Given the description of an element on the screen output the (x, y) to click on. 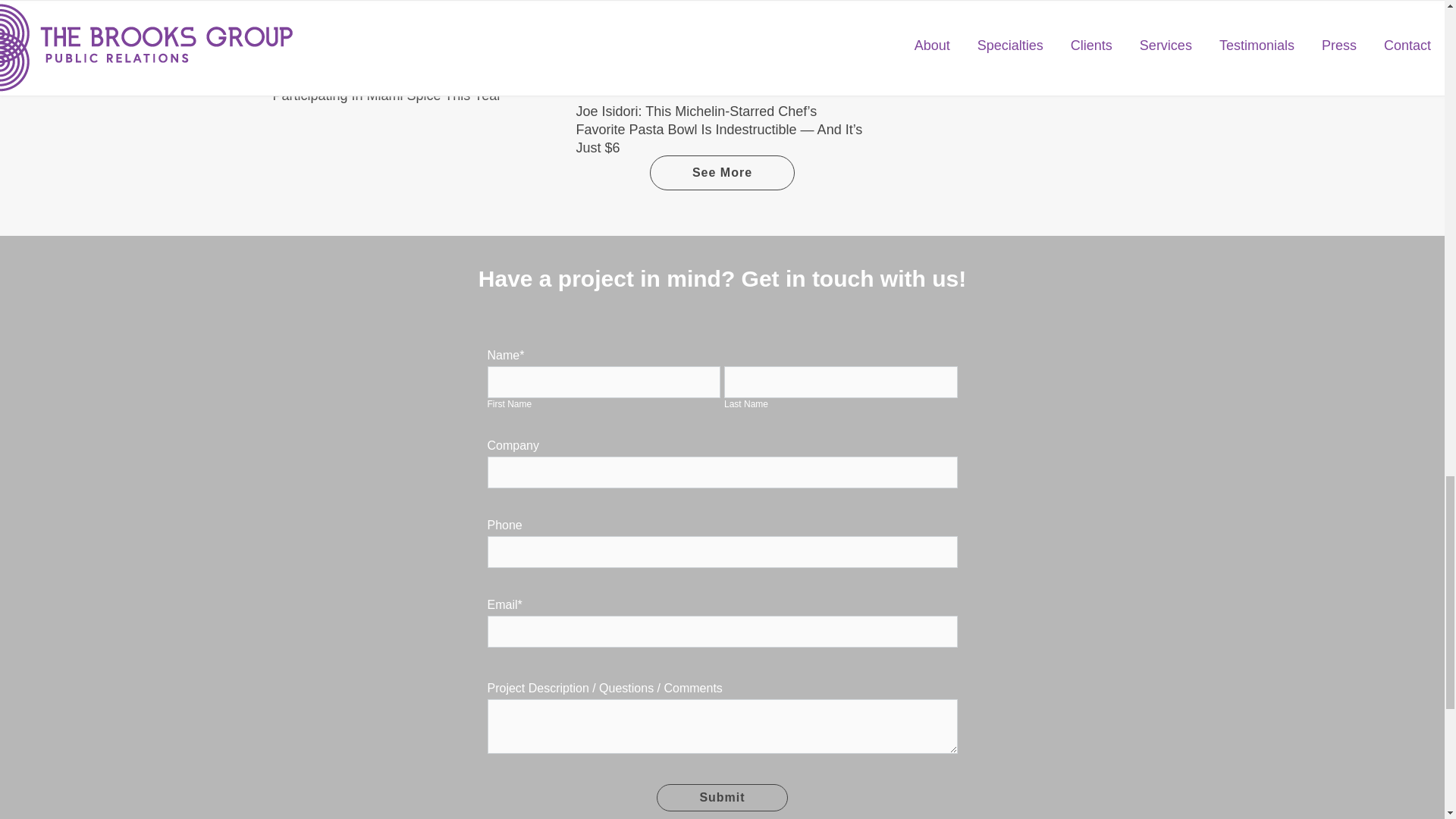
Submit (721, 797)
See More (721, 172)
